Given the description of an element on the screen output the (x, y) to click on. 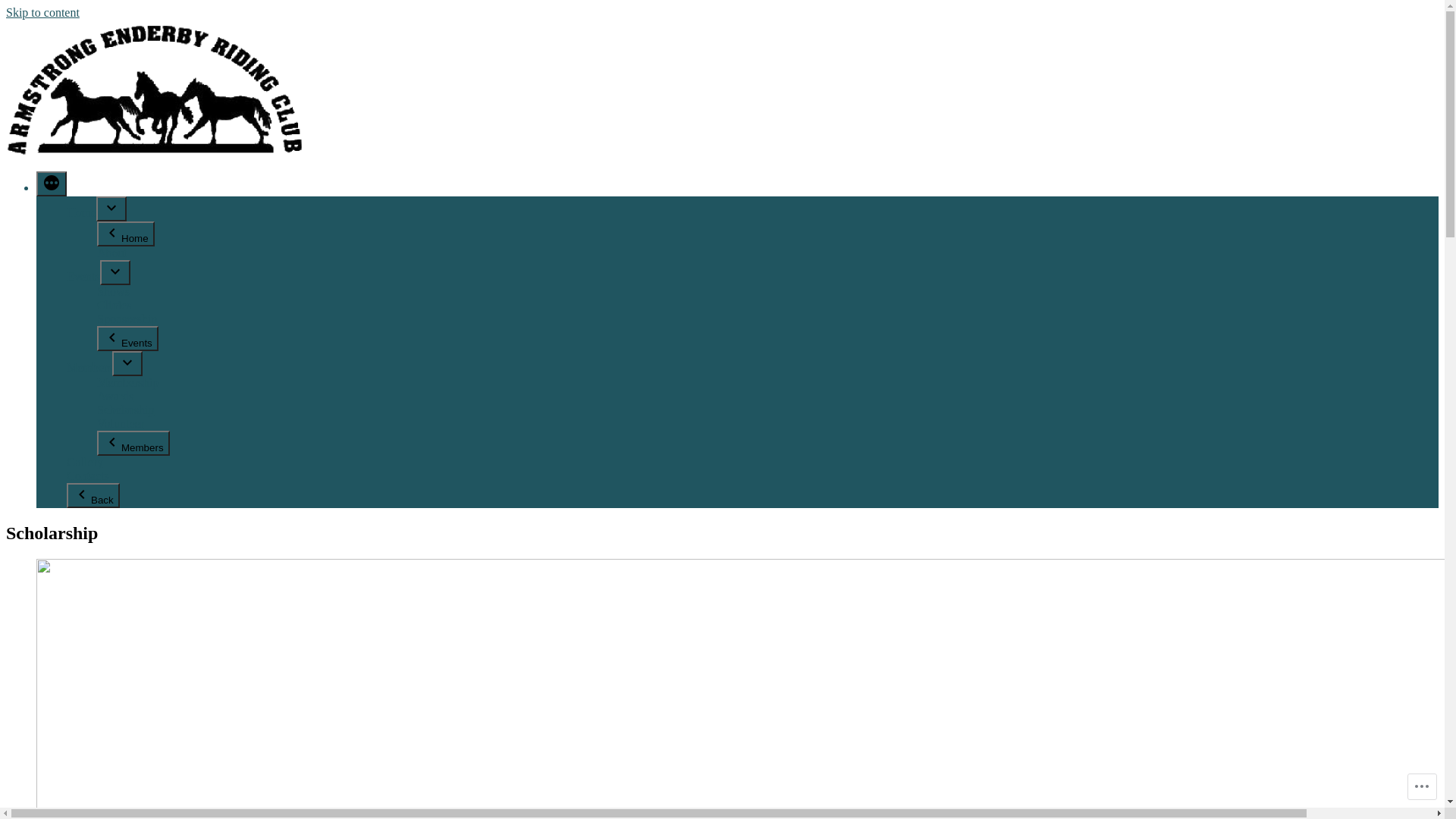
Back Element type: text (92, 495)
Contacts Element type: text (87, 475)
Skip to content Element type: text (42, 12)
Home Element type: text (81, 212)
Home Element type: text (125, 233)
Events Element type: text (83, 275)
Members Element type: text (89, 366)
Events Element type: text (127, 338)
Membership Element type: text (127, 382)
Members Element type: text (133, 442)
Clinics Element type: text (114, 304)
Sponsorship Element type: text (126, 318)
Volunteer Element type: text (120, 423)
Awards Element type: text (115, 395)
Shows Element type: text (113, 291)
Scholarship Element type: text (125, 409)
About Element type: text (112, 252)
Armstrong Enderby Riding Club Element type: text (85, 177)
Gallery Element type: text (84, 461)
